Given the description of an element on the screen output the (x, y) to click on. 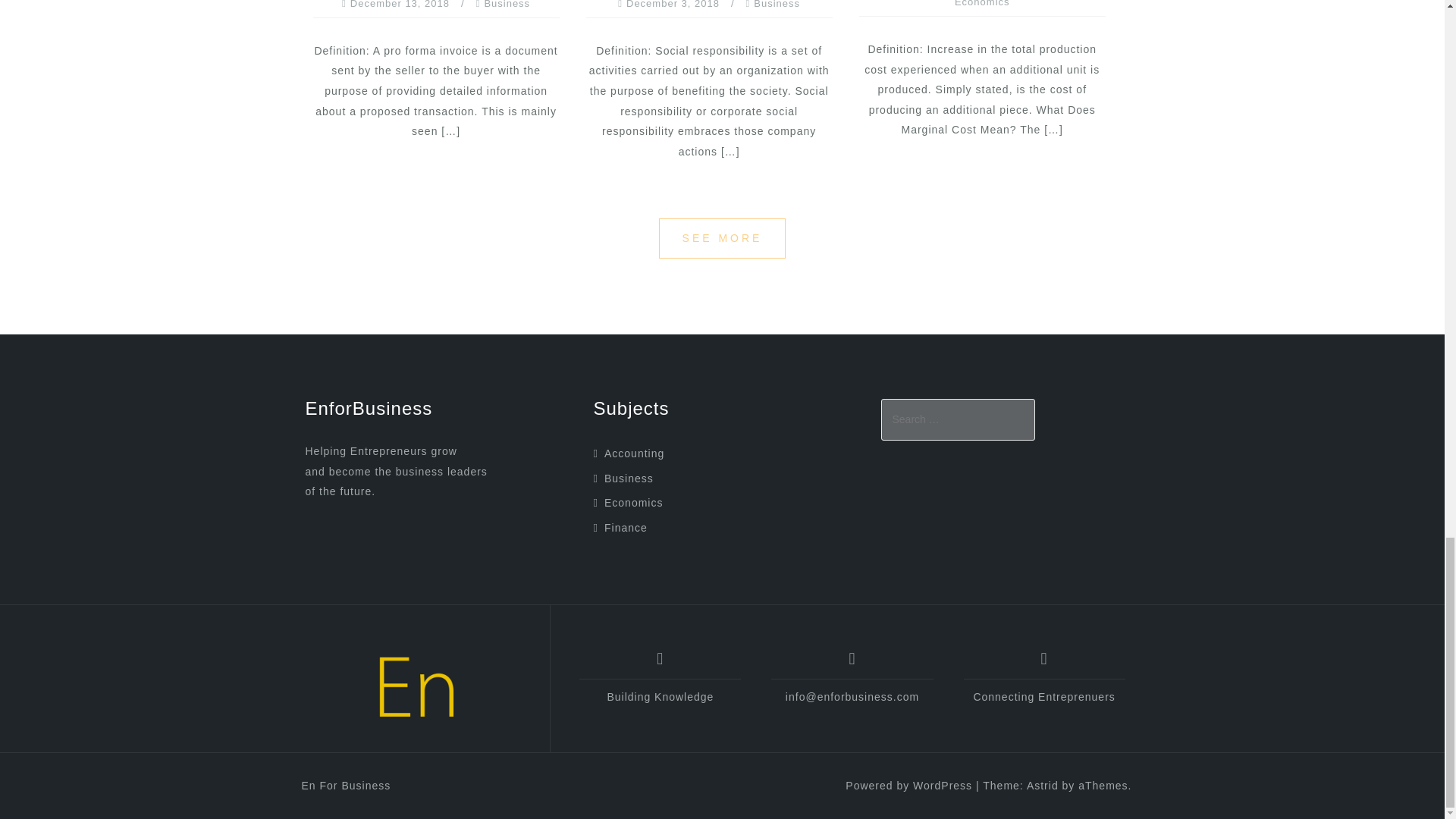
Astrid (1042, 785)
Business (628, 478)
Accounting (633, 453)
SEE MORE (722, 238)
Business (776, 4)
December 3, 2018 (672, 4)
En For Business (414, 684)
En For Business (346, 785)
Economics (633, 502)
Powered by WordPress (908, 785)
